Given the description of an element on the screen output the (x, y) to click on. 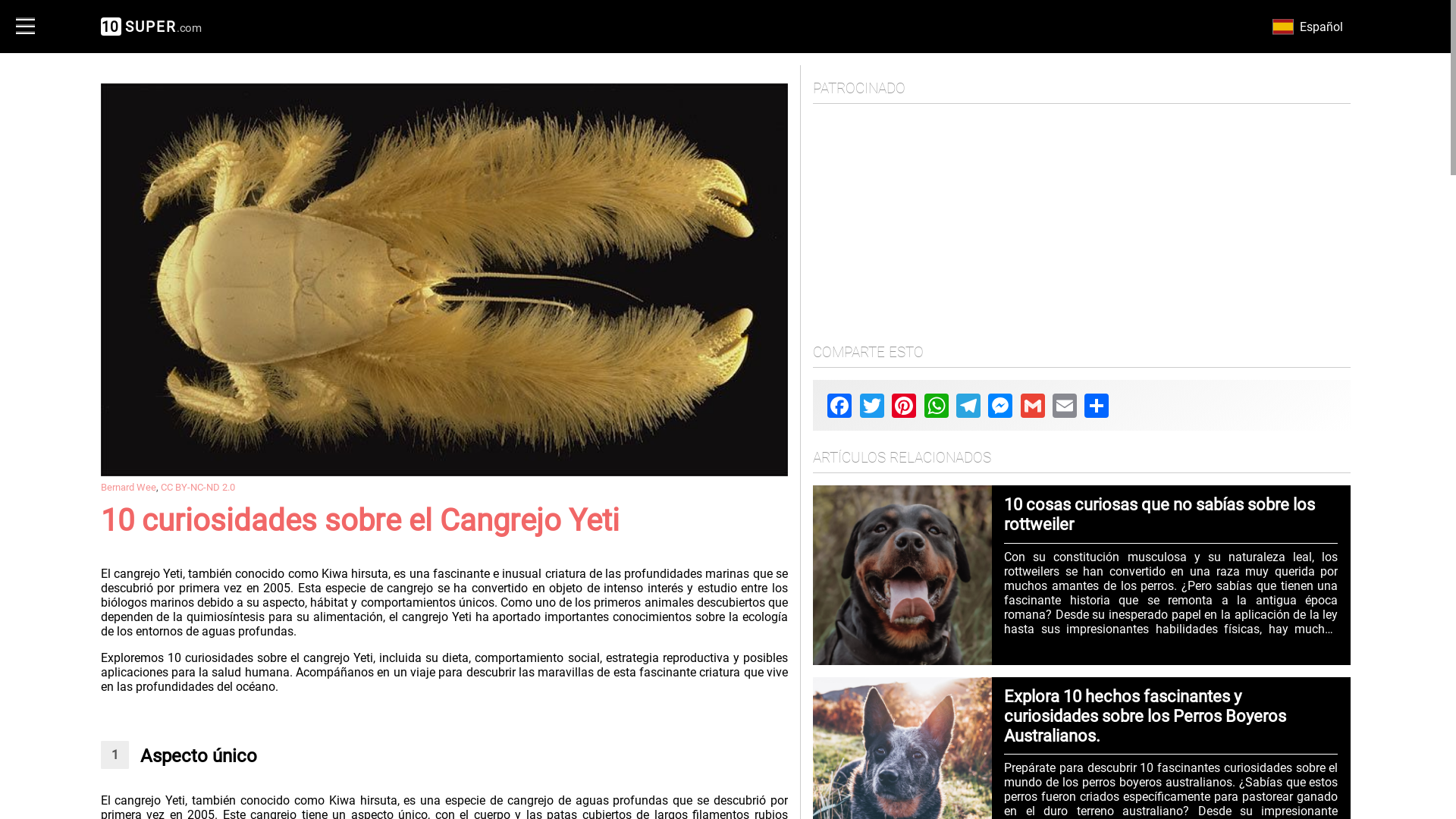
Twitter Element type: text (871, 405)
CC BY-NC-ND 2.0 Element type: text (197, 486)
Messenger Element type: text (999, 405)
Gmail Element type: text (1032, 405)
Email Element type: text (1064, 405)
Pinterest Element type: text (903, 405)
WhatsApp Element type: text (936, 405)
Bernard Wee Element type: text (127, 486)
10SUPER.com Element type: text (150, 26)
Share Element type: text (1096, 405)
Telegram Element type: text (968, 405)
Facebook Element type: text (839, 405)
